Given the description of an element on the screen output the (x, y) to click on. 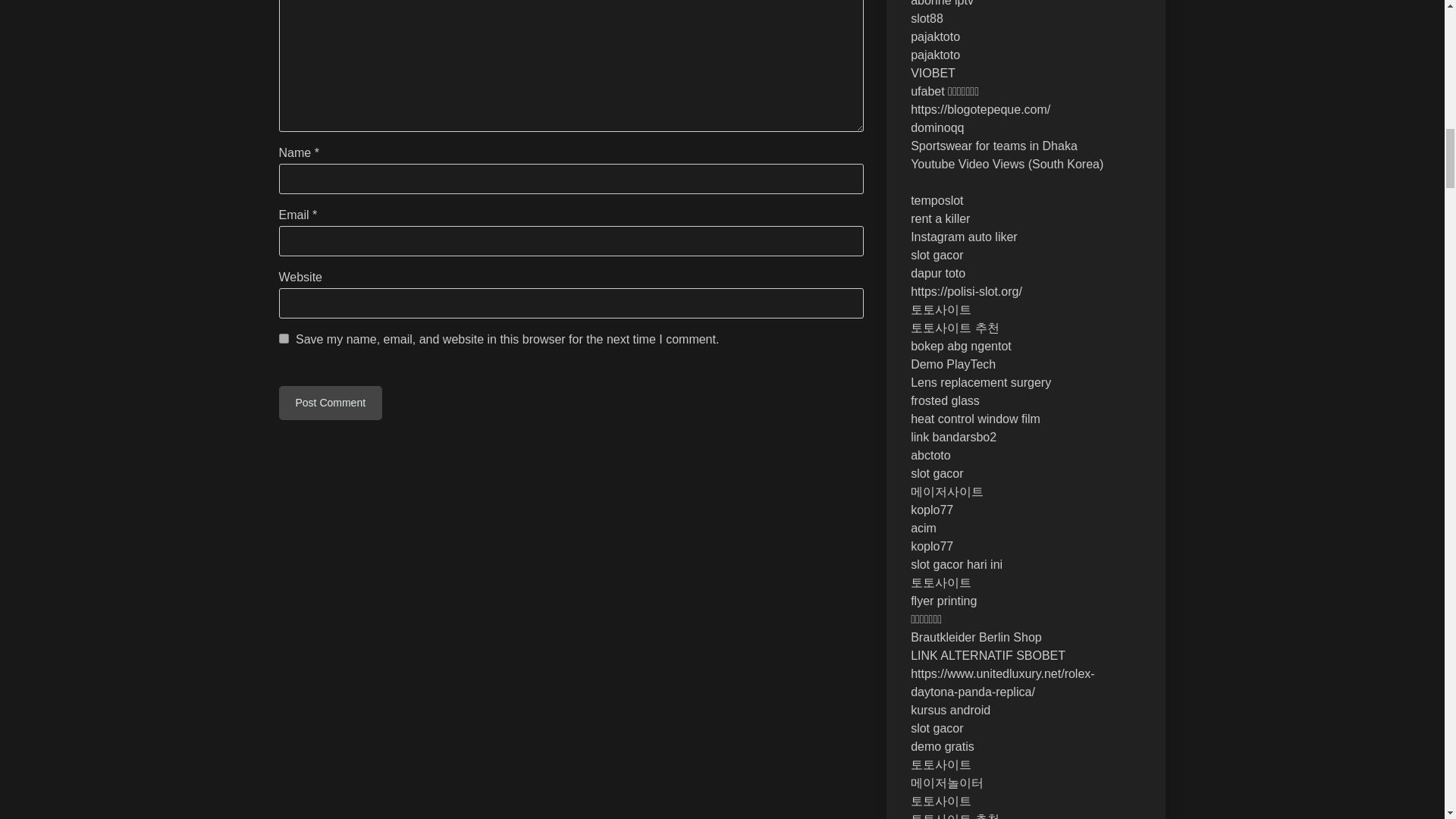
Post Comment (330, 402)
yes (283, 338)
Post Comment (330, 402)
